Given the description of an element on the screen output the (x, y) to click on. 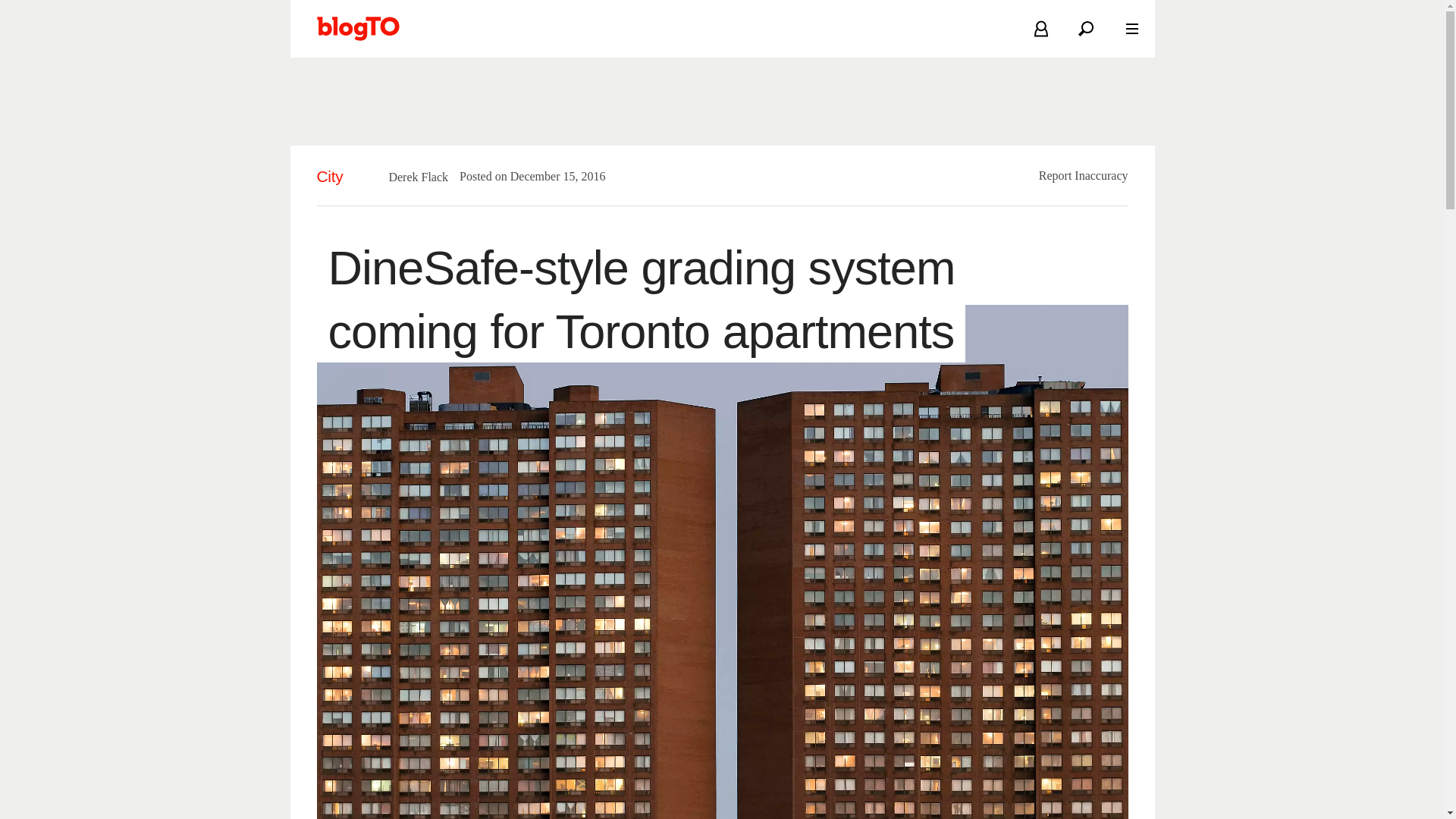
2016-12-15T20:02:24 (550, 175)
